Given the description of an element on the screen output the (x, y) to click on. 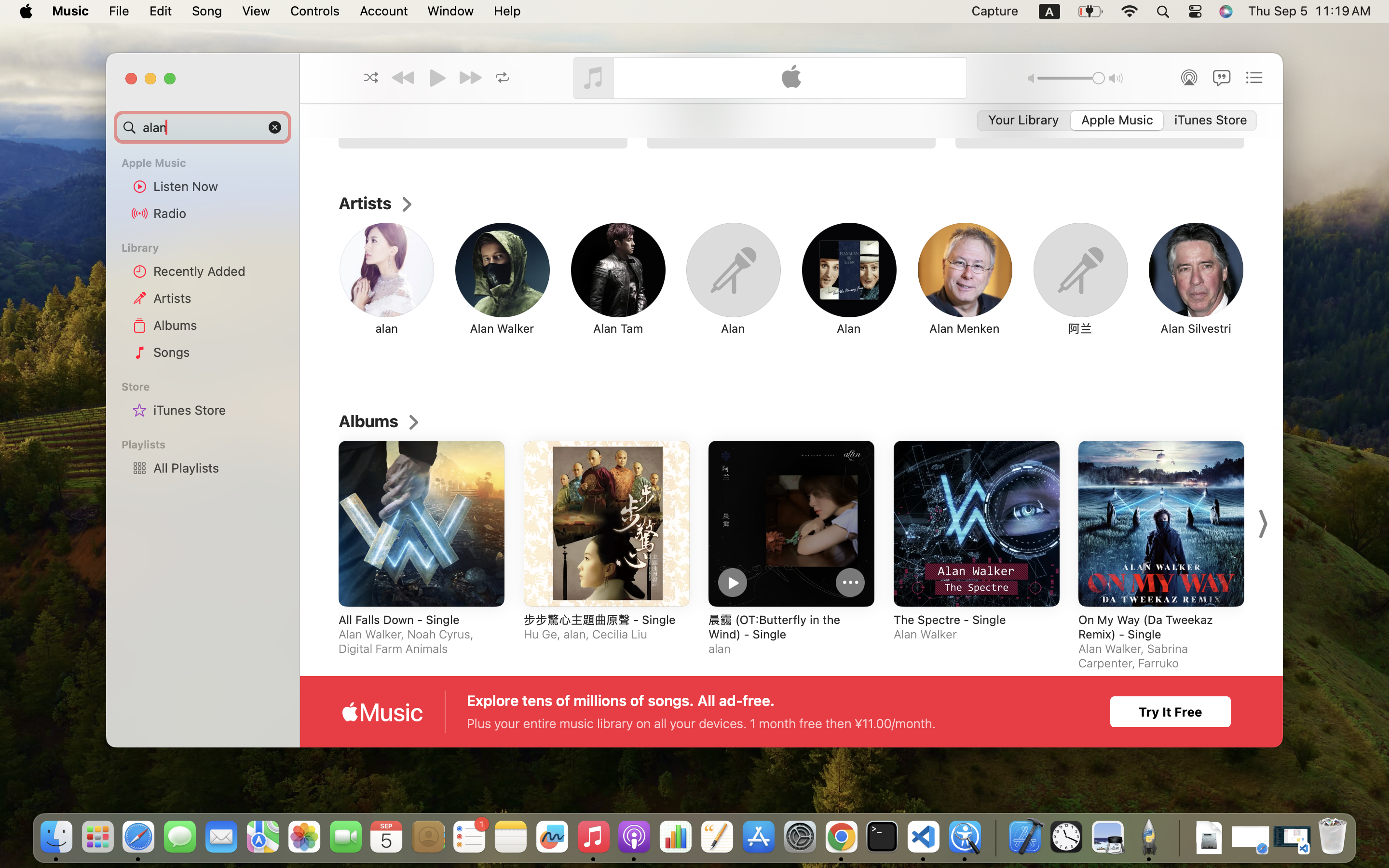
Radio Element type: AXStaticText (217, 212)
Library Element type: AXStaticText (201, 247)
<AXUIElement 0x16bf655e0> {pid=1405} Element type: AXRadioGroup (1116, 120)
